Given the description of an element on the screen output the (x, y) to click on. 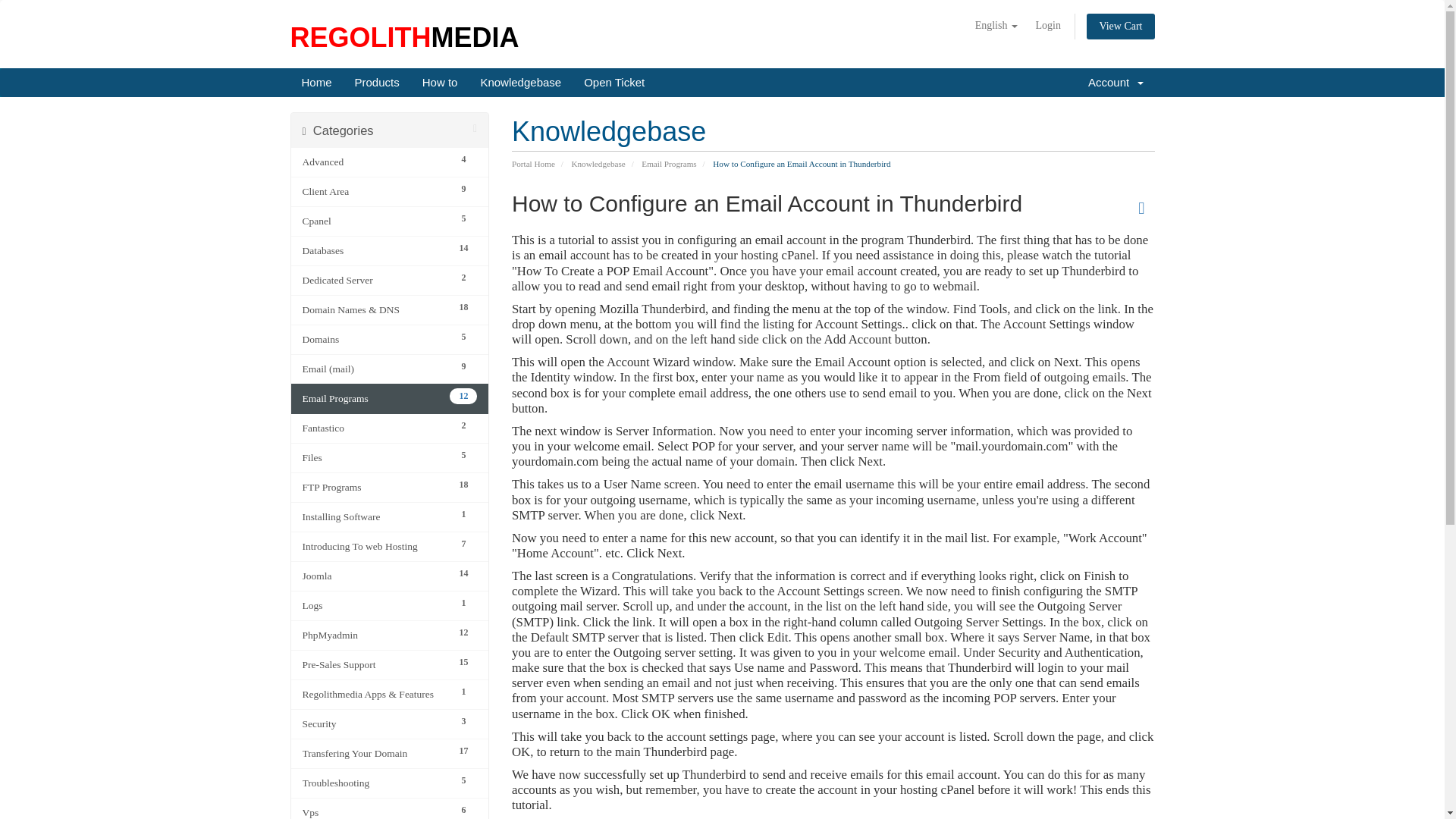
Advanced (375, 162)
English (996, 25)
Products (376, 82)
FTP Programs (375, 487)
Fantastico (375, 428)
Files (375, 457)
Databases (375, 250)
Open ticket (614, 82)
Knowledgebase (520, 82)
Cpanel (375, 221)
